Given the description of an element on the screen output the (x, y) to click on. 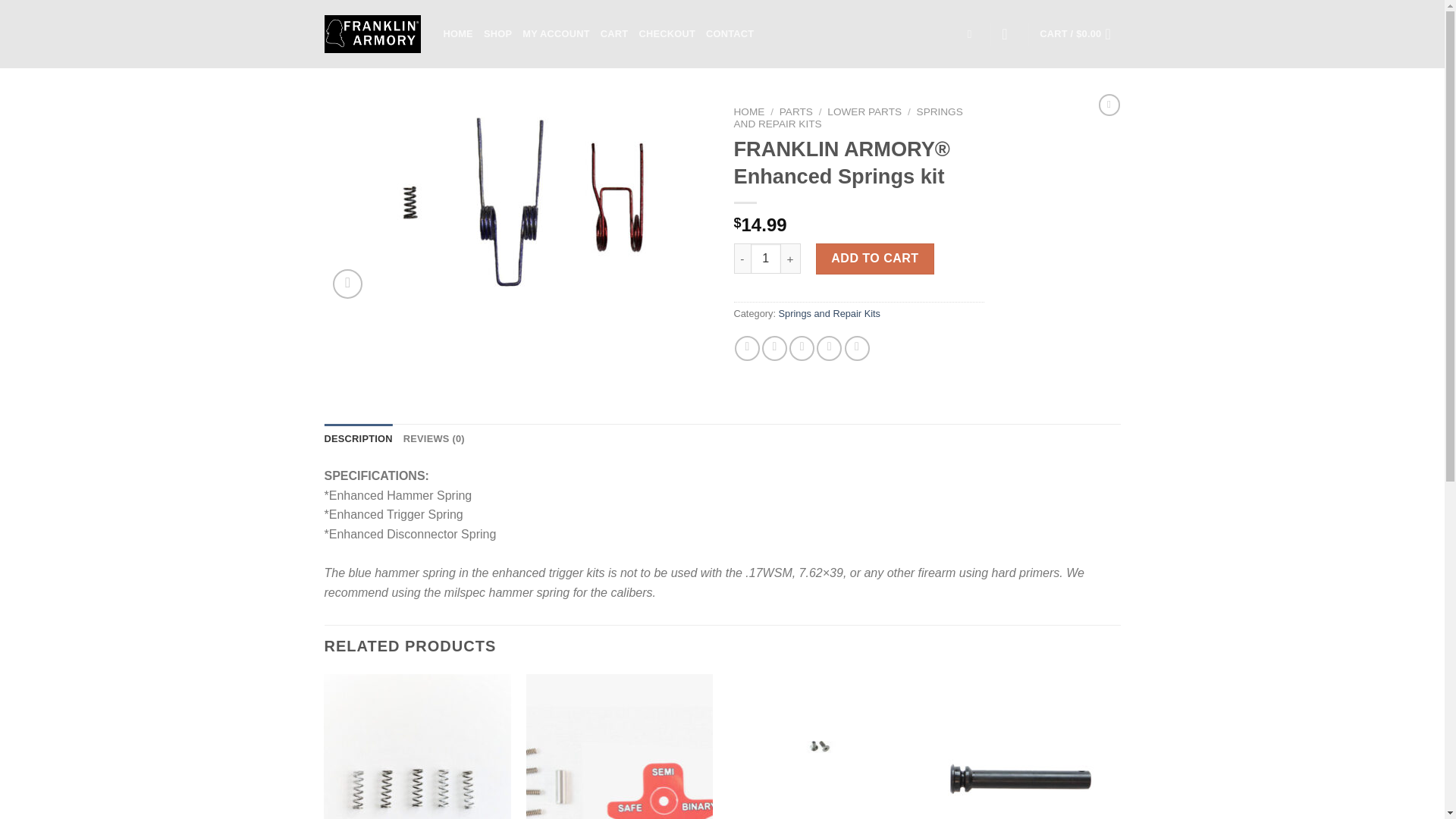
LOWER PARTS (864, 111)
SHOP (497, 33)
Springs and Repair Kits (829, 313)
Qty (765, 258)
MY ACCOUNT (555, 33)
DESCRIPTION (358, 439)
ADD TO CART (874, 258)
PARTS (795, 111)
CONTACT (730, 33)
Franklin Armory USA - Franklin Armory For Sale (372, 34)
